Given the description of an element on the screen output the (x, y) to click on. 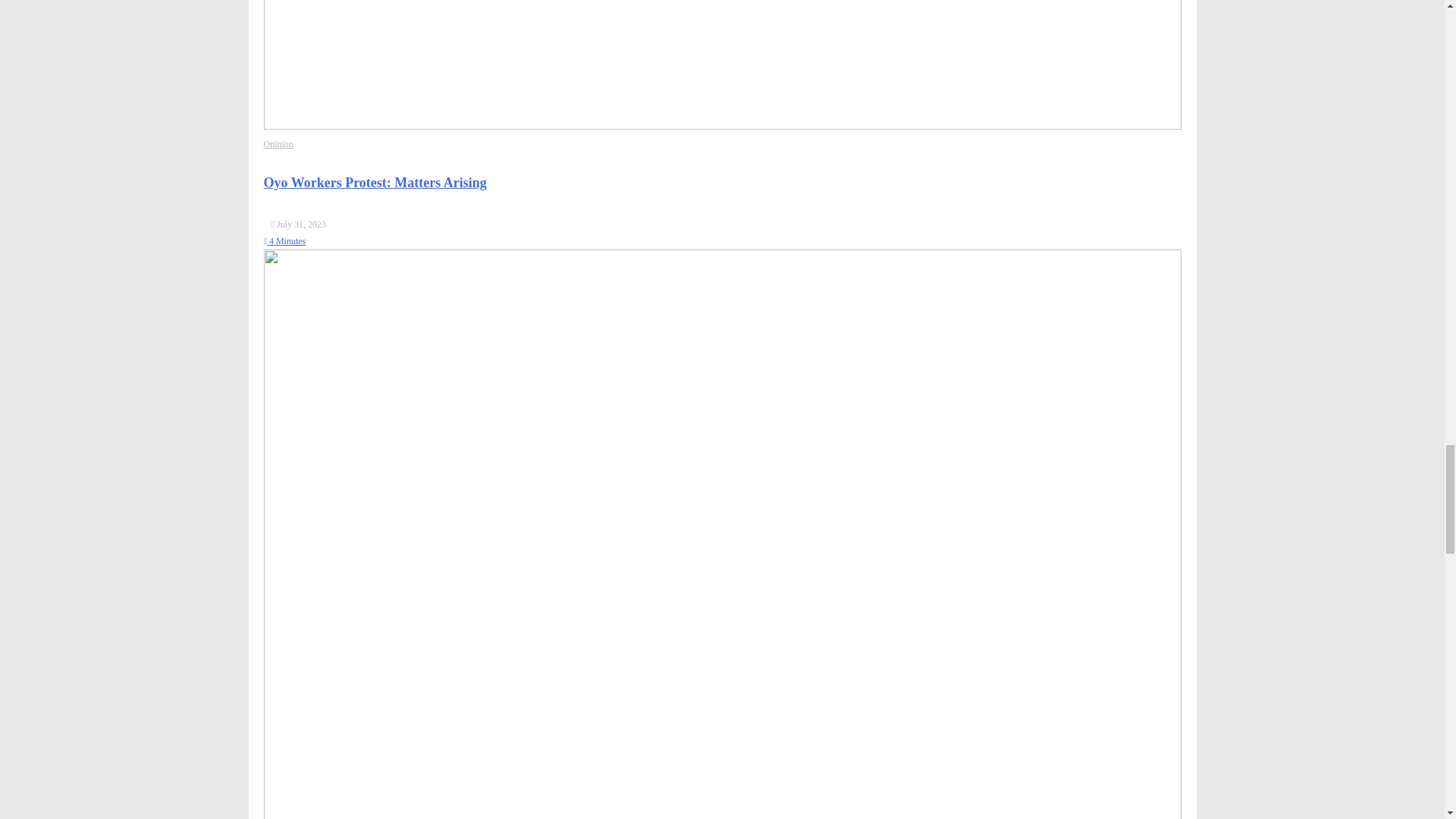
Estimated Reading Time of Article (284, 240)
